Given the description of an element on the screen output the (x, y) to click on. 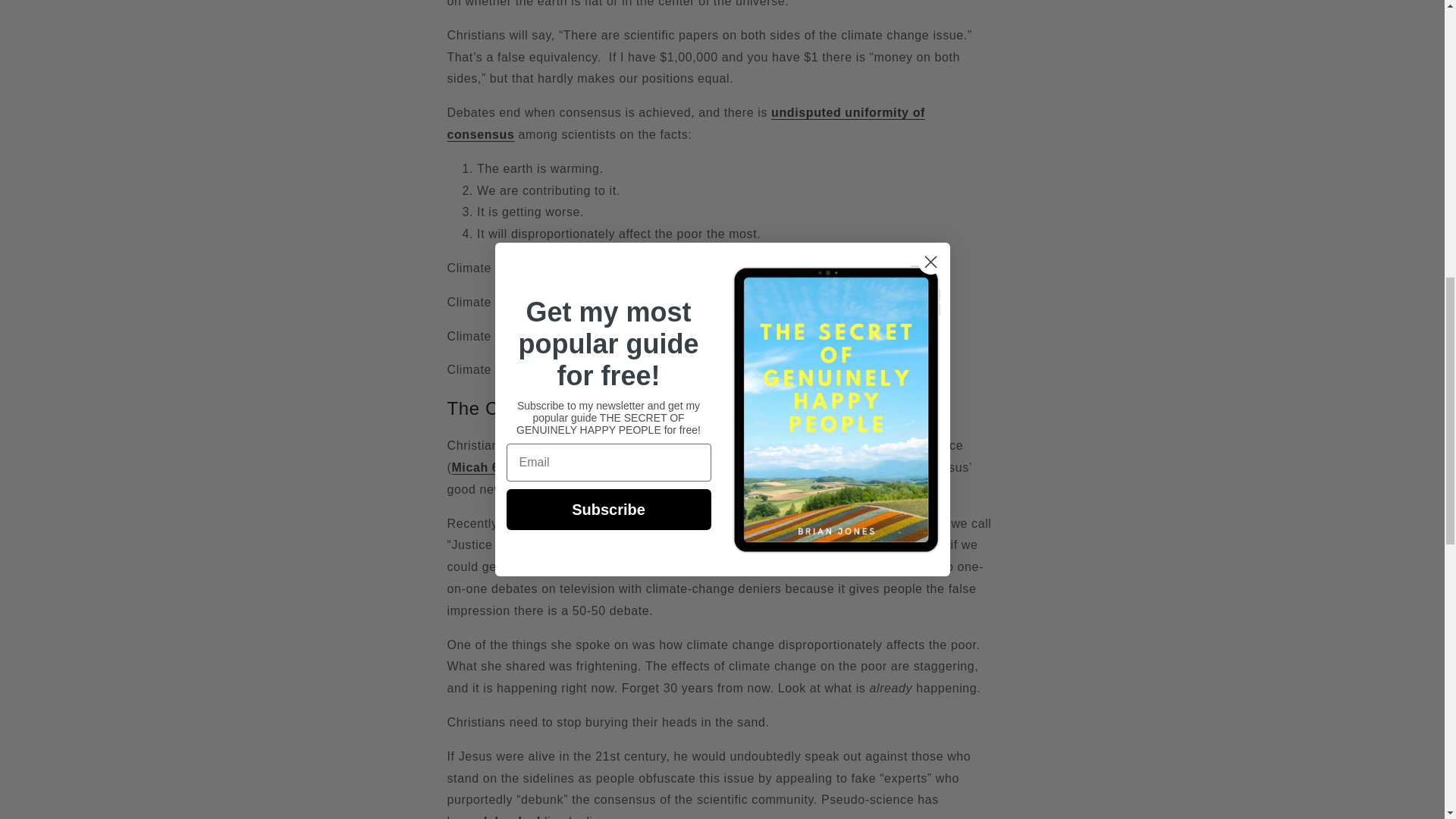
Christian climatologist Dr. Hayhoe (718, 522)
debunked (510, 816)
Matthew 25:35-40 (790, 467)
Luke 4:18-19 (628, 489)
Genesis 2:15 (769, 445)
Micah 6:8 (481, 467)
undisputed uniformity of consensus (685, 123)
